Given the description of an element on the screen output the (x, y) to click on. 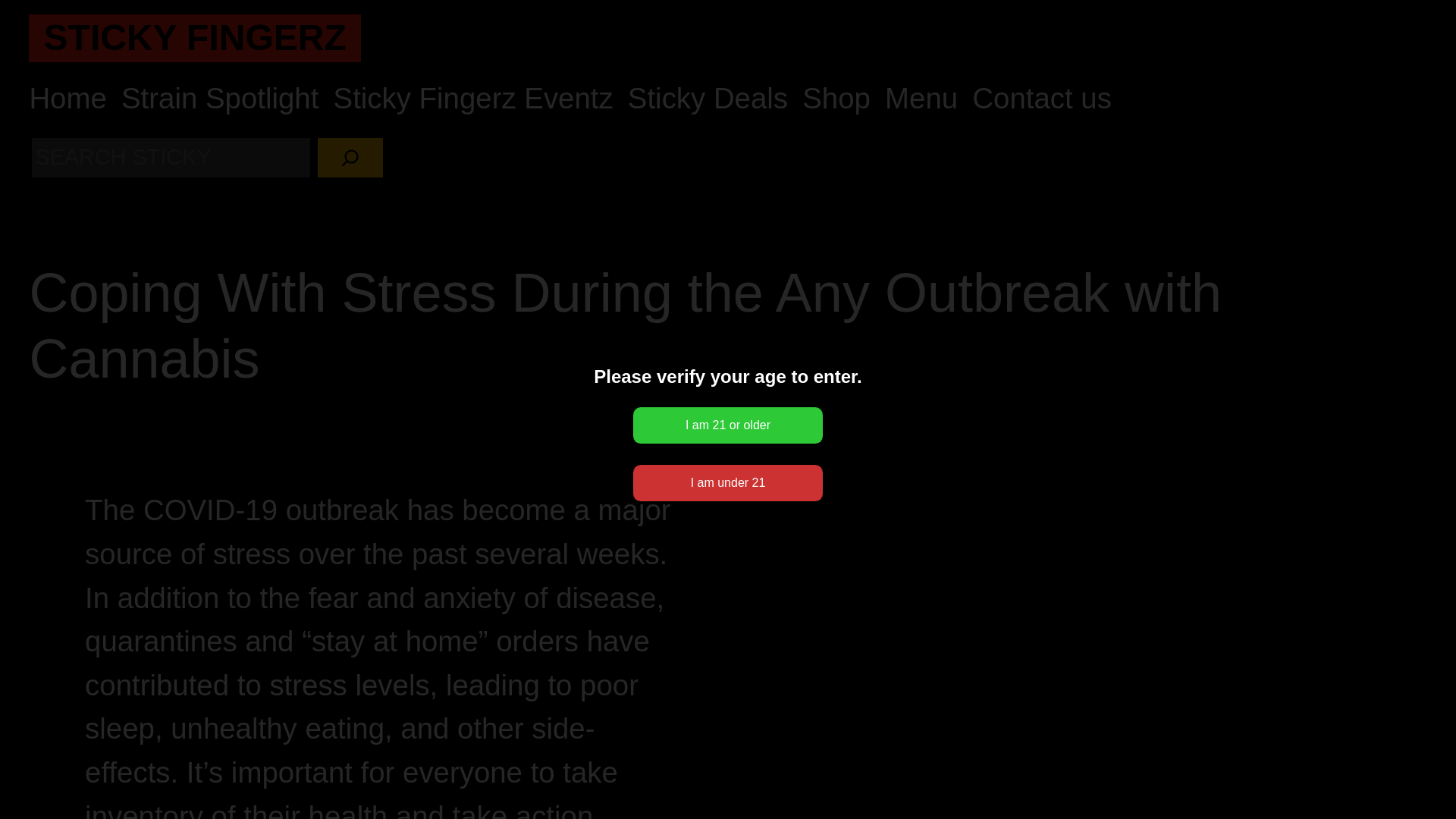
STICKY FINGERZ (194, 37)
Strain Spotlight (219, 98)
Contact us (1042, 98)
Sticky Fingerz Eventz (472, 98)
Sticky Deals (707, 98)
Shop (836, 98)
I am under 21 (727, 483)
Menu (921, 98)
I am 21 or older (727, 425)
Home (67, 98)
